Given the description of an element on the screen output the (x, y) to click on. 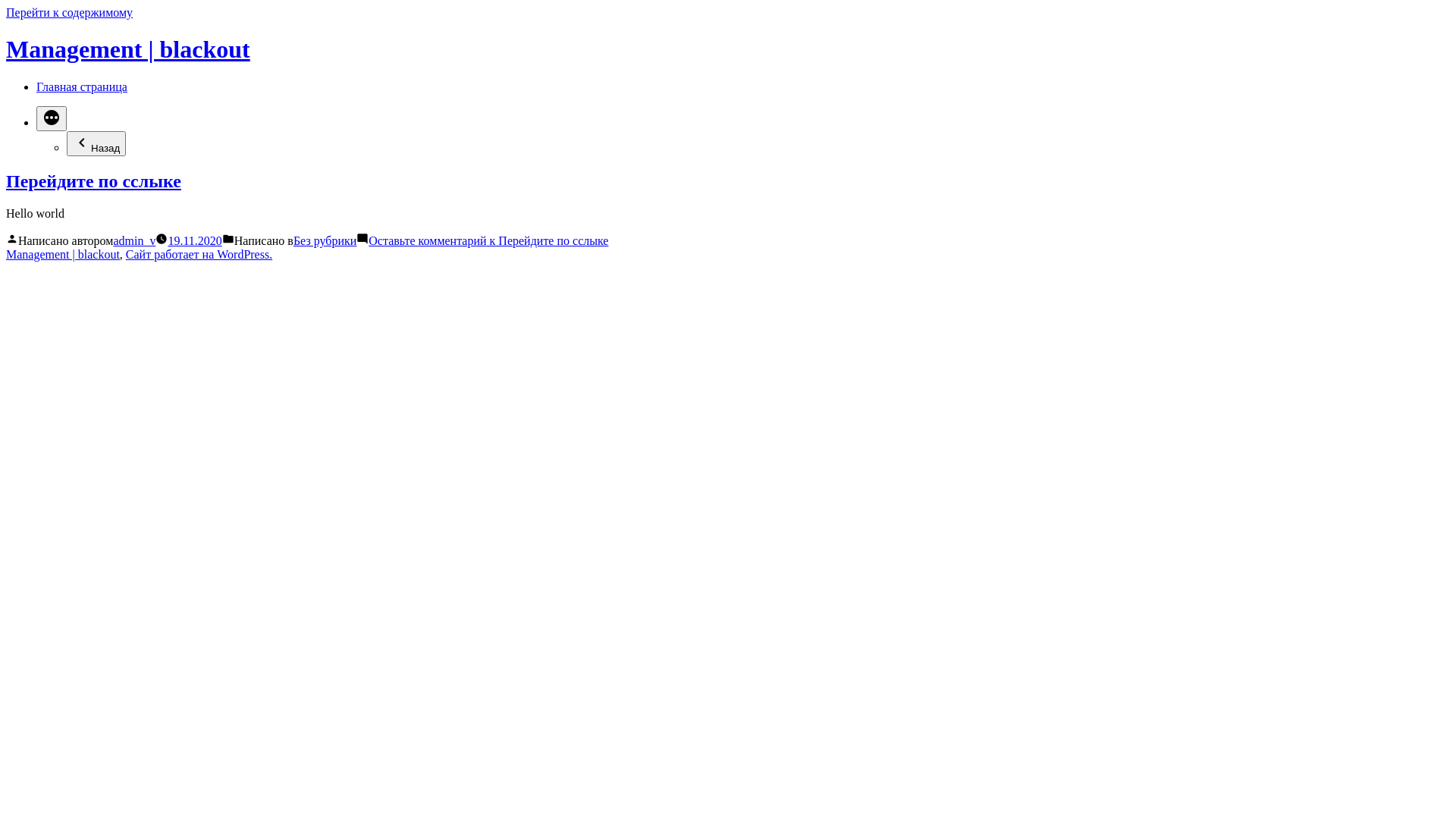
Management | blackout Element type: text (62, 253)
19.11.2020 Element type: text (194, 240)
admin_v Element type: text (133, 240)
Management | blackout Element type: text (128, 48)
